Given the description of an element on the screen output the (x, y) to click on. 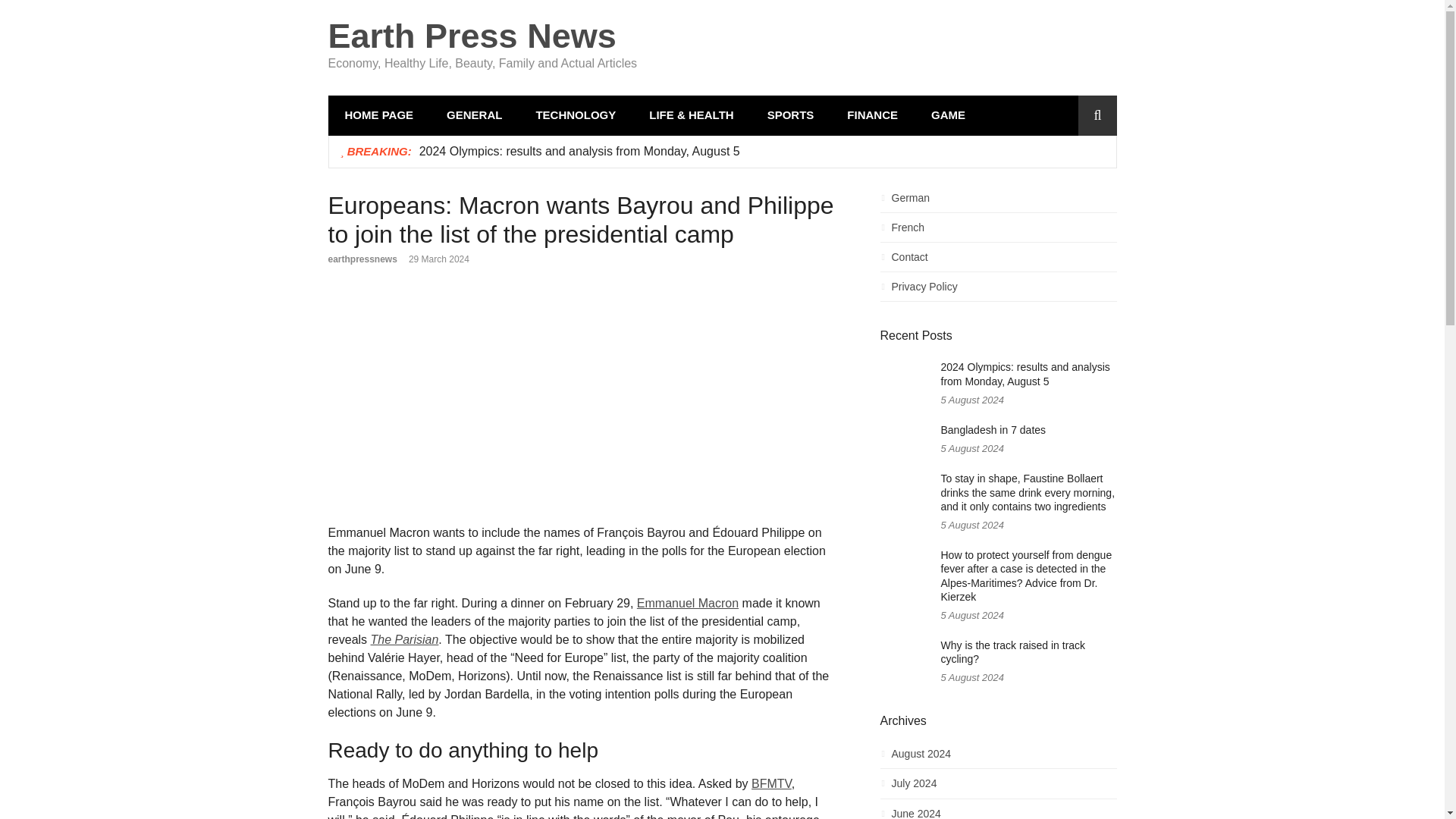
HOME PAGE (378, 115)
GENERAL (473, 115)
The Parisian (405, 639)
Earth Press News (471, 35)
2024 Olympics: results and analysis from Monday, August 5 (579, 150)
earthpressnews (361, 258)
SPORTS (791, 115)
GAME (947, 115)
FINANCE (871, 115)
2024 Olympics: results and analysis from Monday, August 5 (579, 150)
BFMTV (771, 783)
Bangladesh in 7 dates (992, 429)
2024 Olympics: results and analysis from Monday, August 5 (1024, 374)
Emmanuel Macron (687, 603)
